Given the description of an element on the screen output the (x, y) to click on. 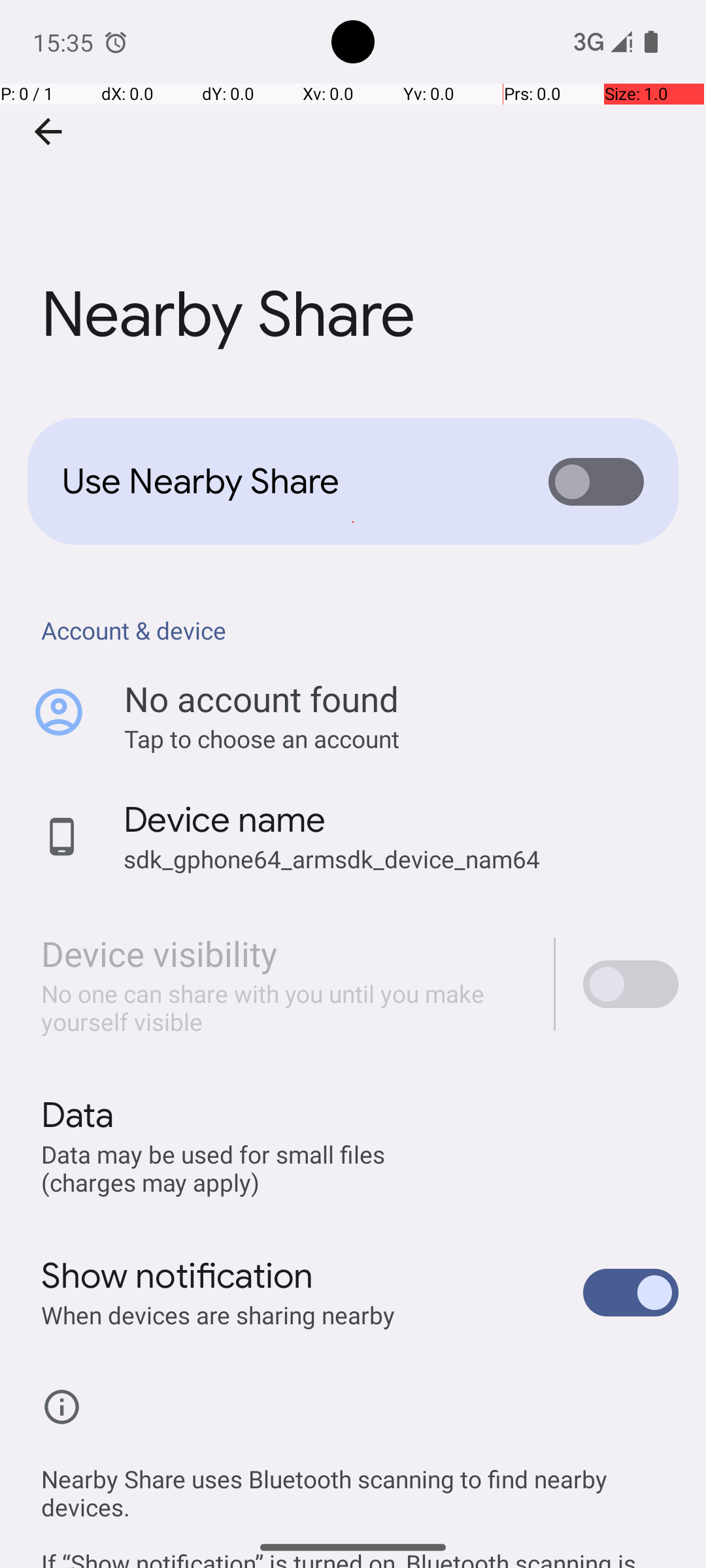
Use Nearby Share Element type: android.widget.TextView (284, 481)
Account & device Element type: android.widget.TextView (359, 629)
Tap to choose an account Element type: android.widget.TextView (401, 738)
sdk_gphone64_armsdk_device_nam64 Element type: android.widget.TextView (331, 858)
Data Element type: android.widget.TextView (77, 1115)
Data may be used for small files 
(charges may apply) Element type: android.widget.TextView (215, 1167)
Show notification Element type: android.widget.TextView (177, 1275)
When devices are sharing nearby Element type: android.widget.TextView (218, 1314)
Nearby Share uses Bluetooth scanning to find nearby devices. 

If “Show notification” is turned on, Bluetooth scanning is used to notify you if someone wants to share with you, even when Nearby Share is turned off. Element type: android.widget.TextView (359, 1501)
No one can share with you until you make yourself visible Element type: android.widget.TextView (283, 1007)
